Given the description of an element on the screen output the (x, y) to click on. 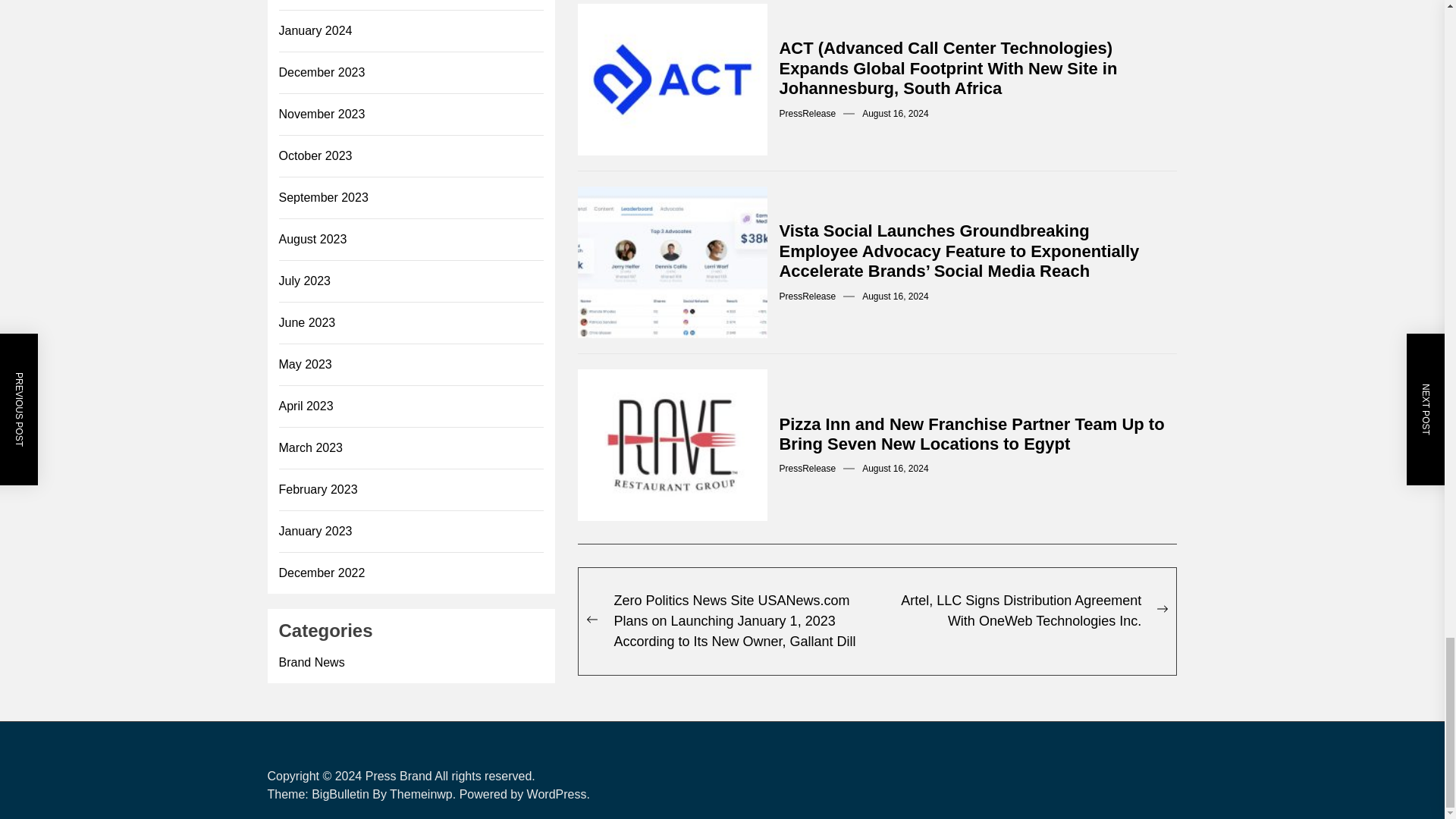
Press Brand (398, 775)
WordPress (558, 793)
Themeinwp (425, 793)
